Given the description of an element on the screen output the (x, y) to click on. 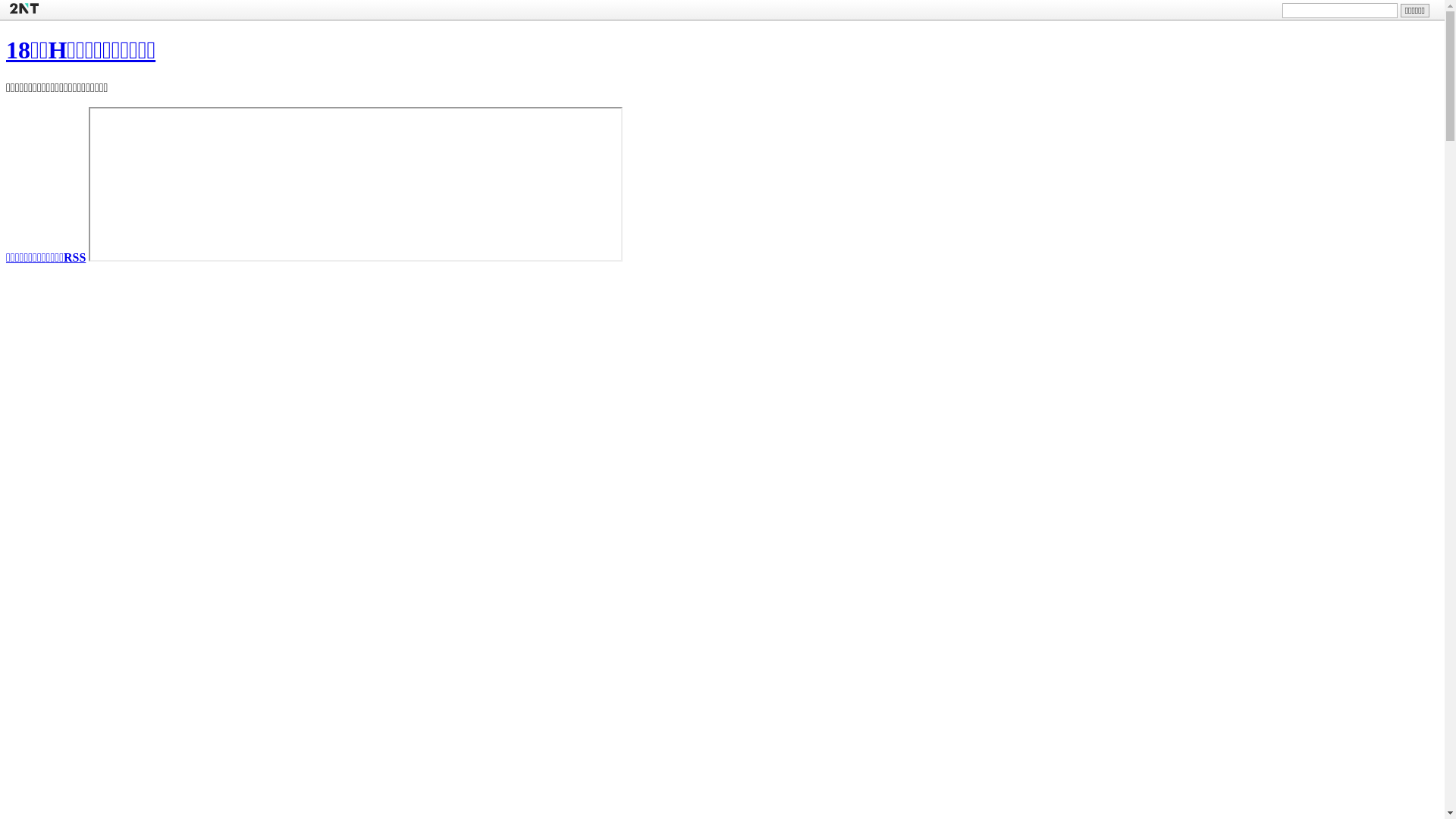
RSS Element type: text (74, 257)
